Given the description of an element on the screen output the (x, y) to click on. 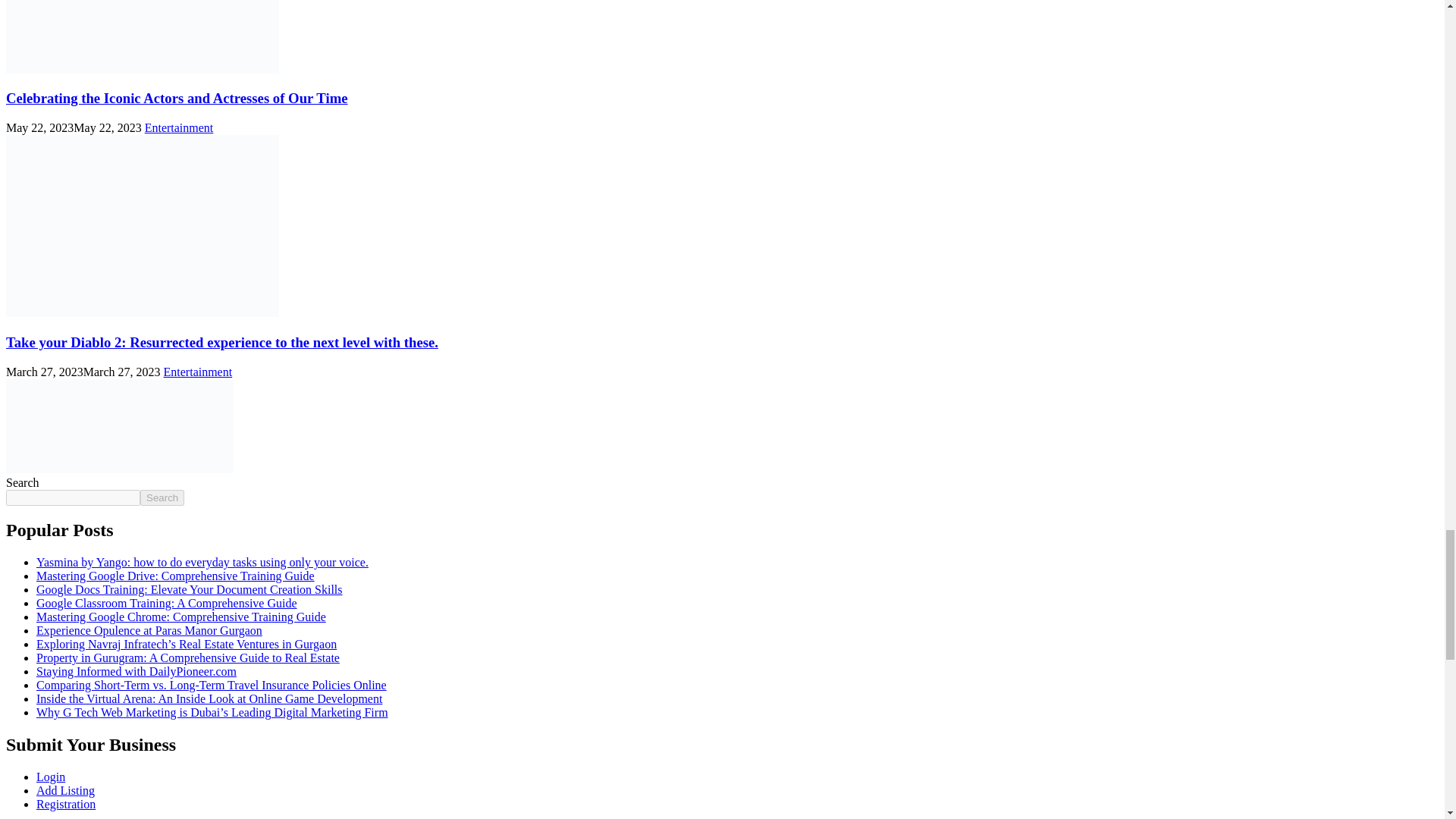
Celebrating the Iconic Actors and Actresses of Our Time 3 (142, 36)
